Given the description of an element on the screen output the (x, y) to click on. 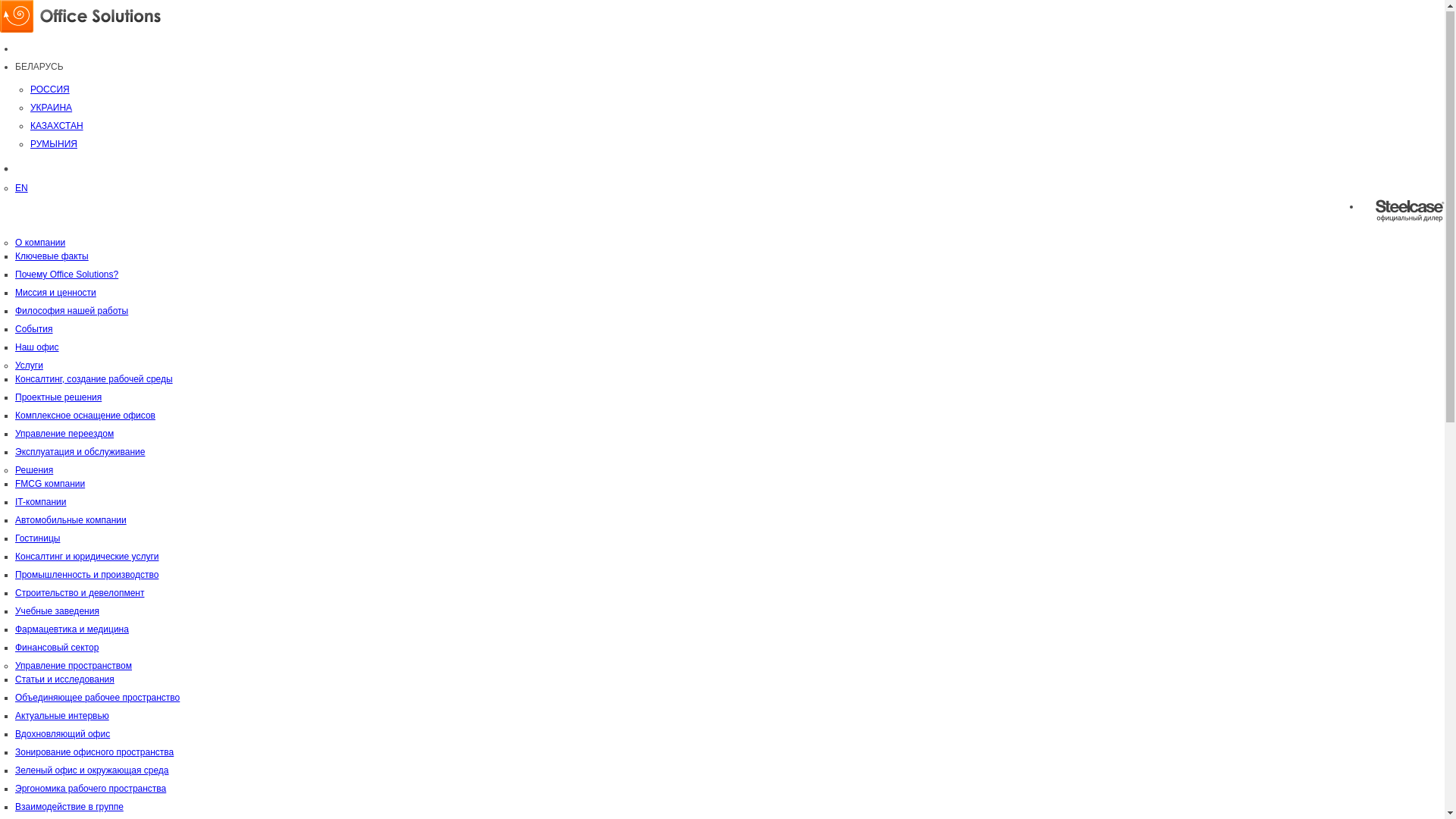
EN Element type: text (21, 188)
